Given the description of an element on the screen output the (x, y) to click on. 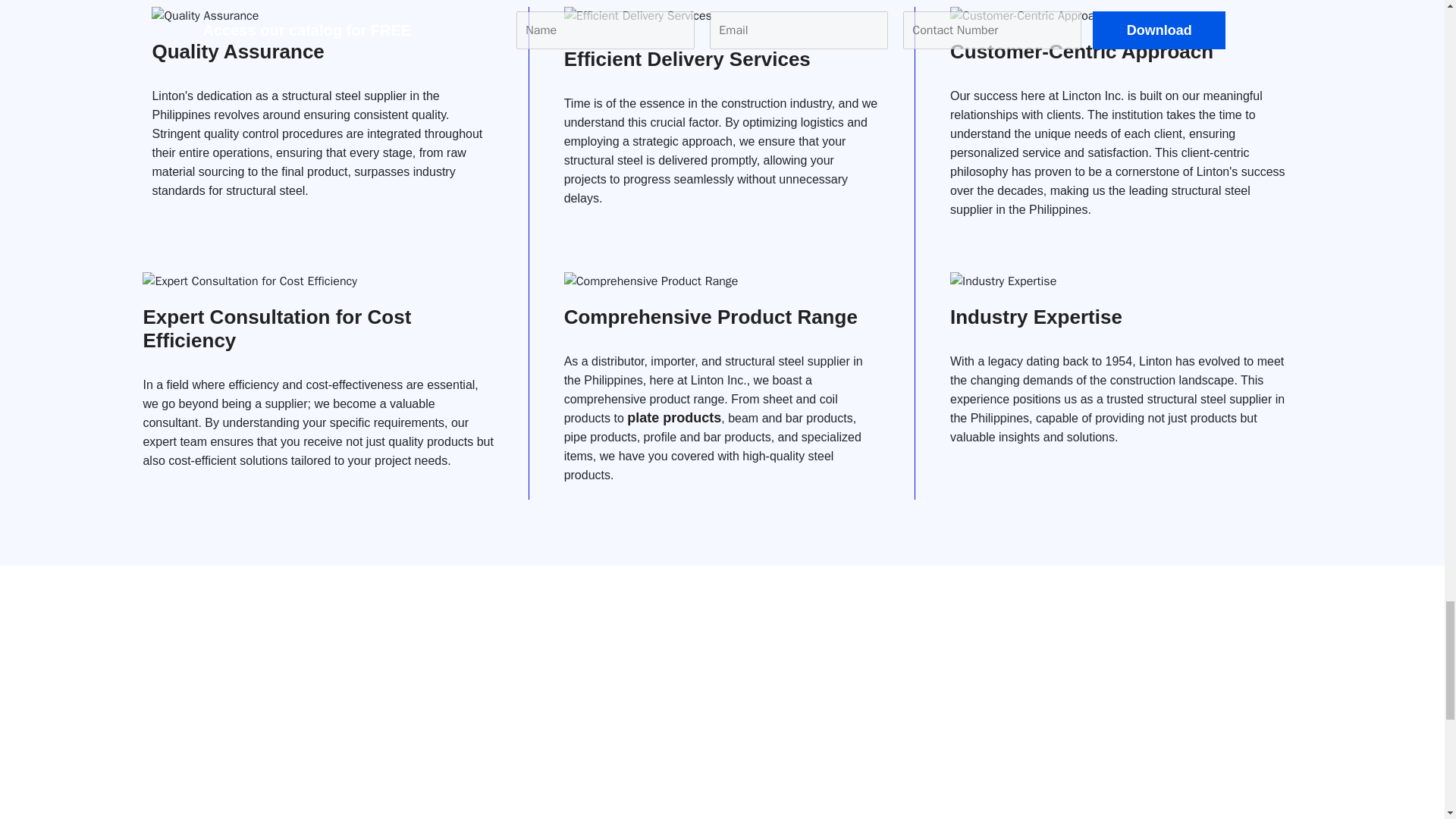
plate products (673, 417)
